Given the description of an element on the screen output the (x, y) to click on. 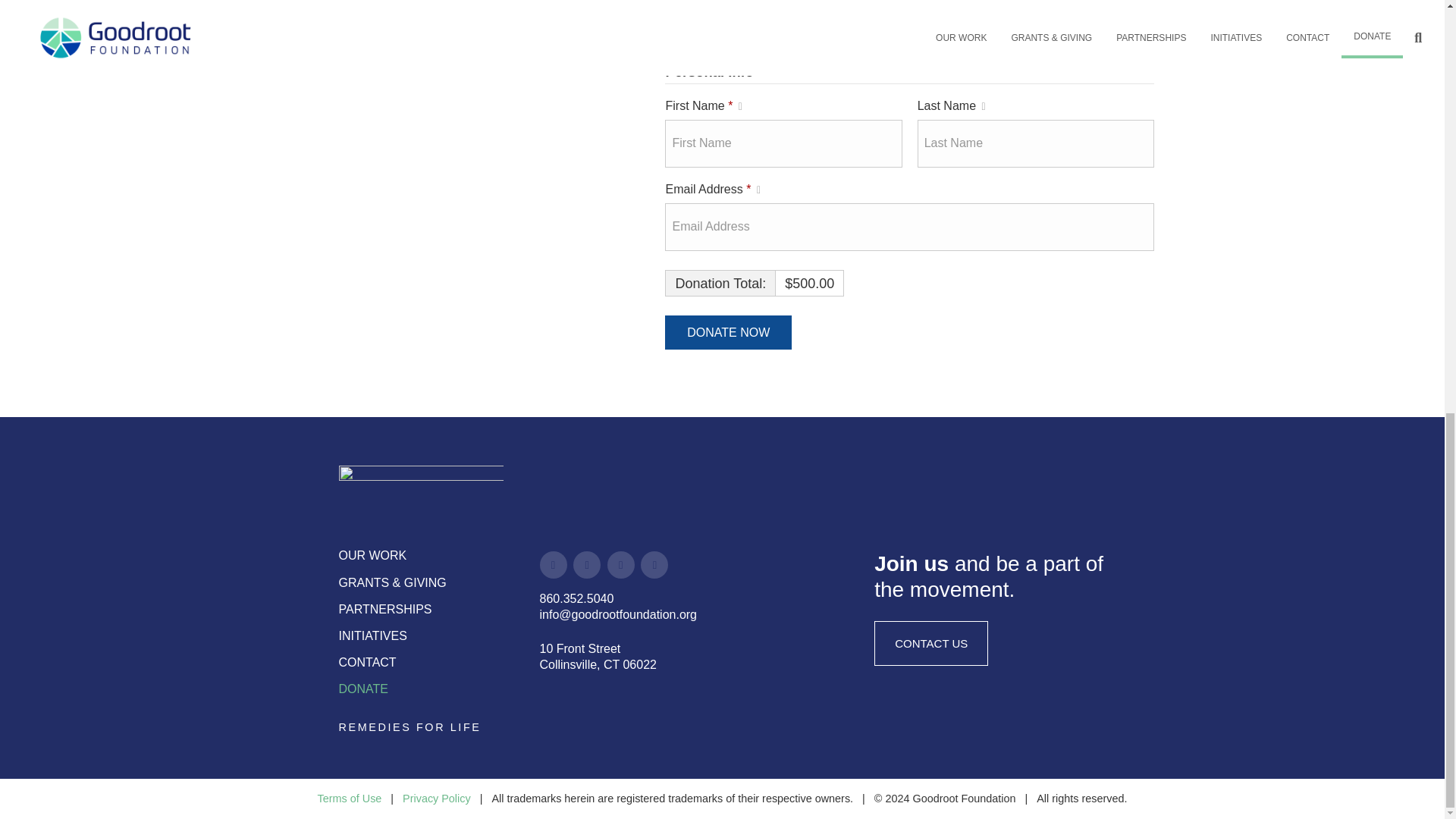
Twitter (620, 564)
CONTACT US (931, 642)
DONATE (362, 688)
Back to top (1413, 16)
Home (419, 490)
INITIATIVES (371, 635)
Terms of Use (349, 798)
CONTACT (366, 662)
PARTNERSHIPS (383, 608)
OUR WORK (371, 554)
Donate Now (728, 332)
Privacy Policy (436, 798)
Donate Now (728, 332)
Twitter (654, 564)
Instagram (586, 564)
